Given the description of an element on the screen output the (x, y) to click on. 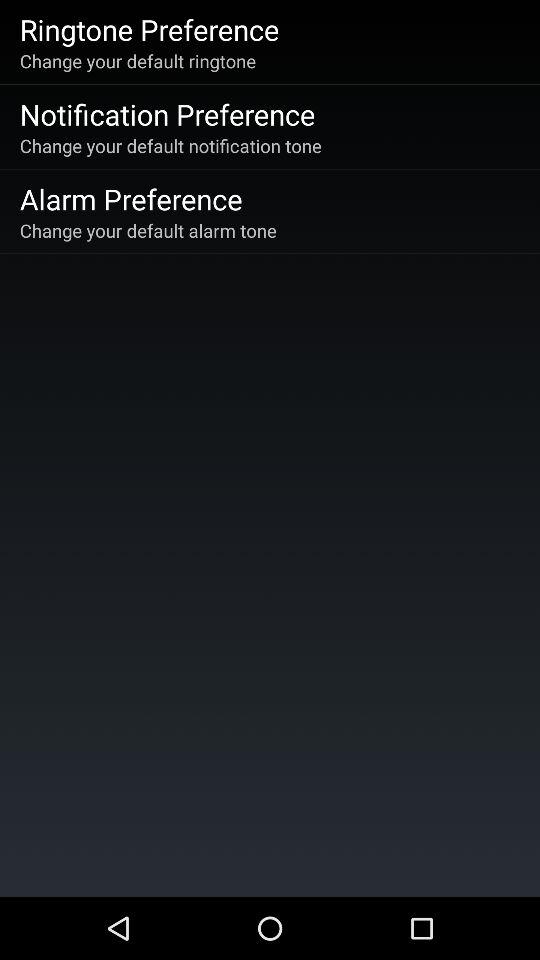
press ringtone preference app (149, 29)
